Given the description of an element on the screen output the (x, y) to click on. 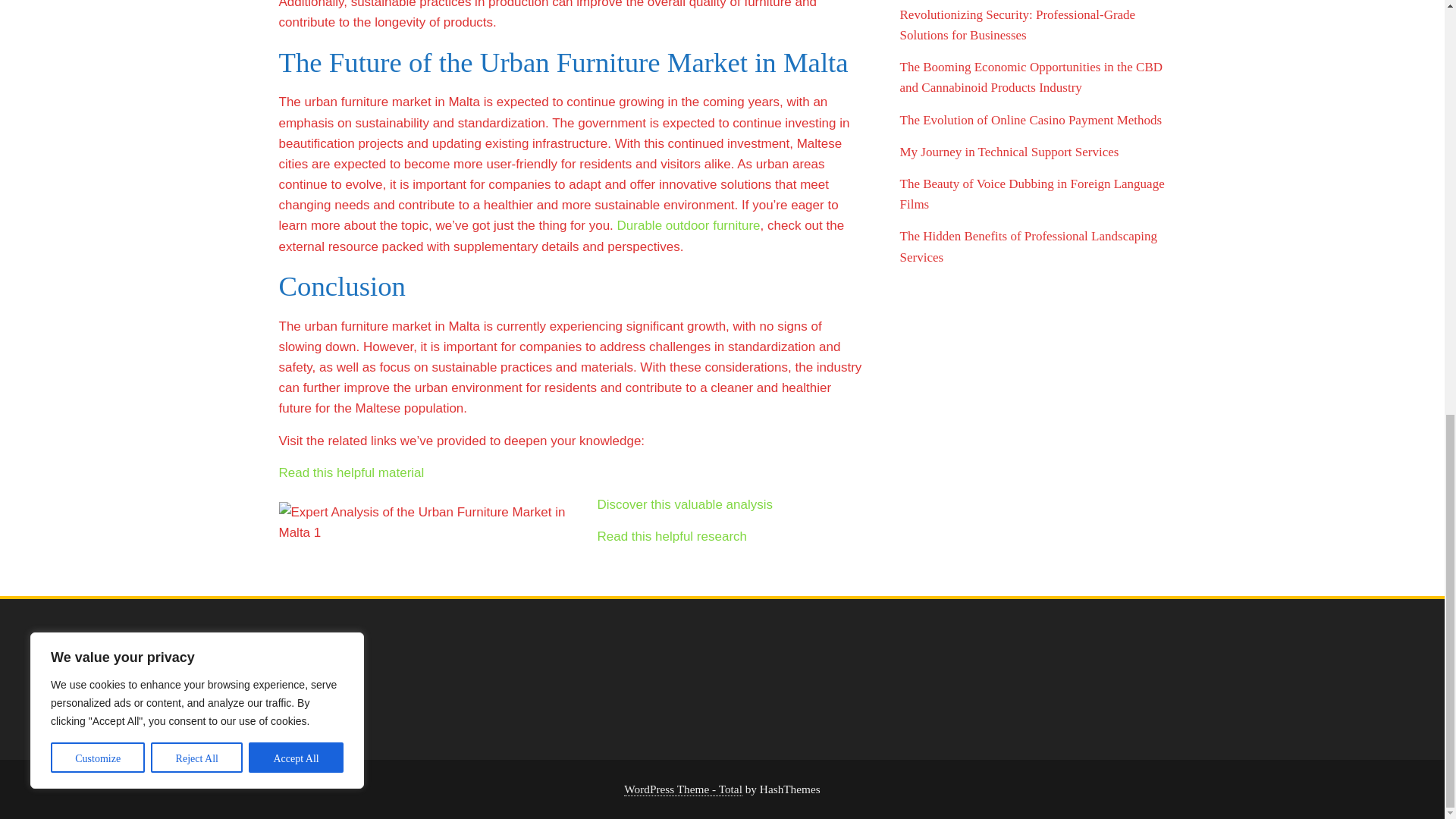
Read this helpful material (352, 472)
Read this helpful research (672, 536)
Durable outdoor furniture (688, 225)
Discover this valuable analysis (684, 504)
